Given the description of an element on the screen output the (x, y) to click on. 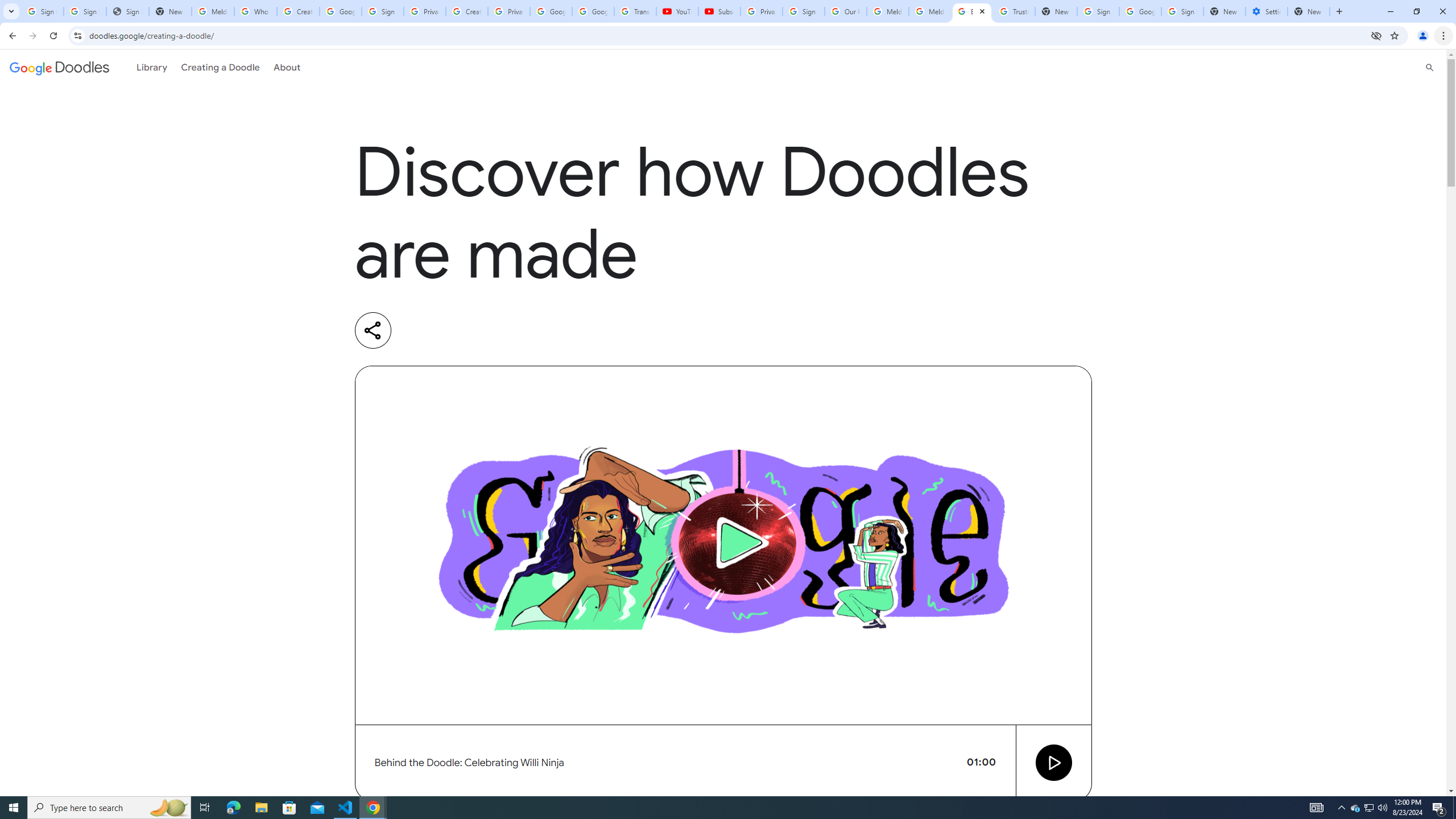
Create your Google Account (298, 11)
Search (1429, 67)
New Tab (1308, 11)
Google Cybersecurity Innovations - Google Safety Center (1139, 11)
Sign in - Google Accounts (42, 11)
Google doodles (59, 67)
Sign in - Google Accounts (85, 11)
